Given the description of an element on the screen output the (x, y) to click on. 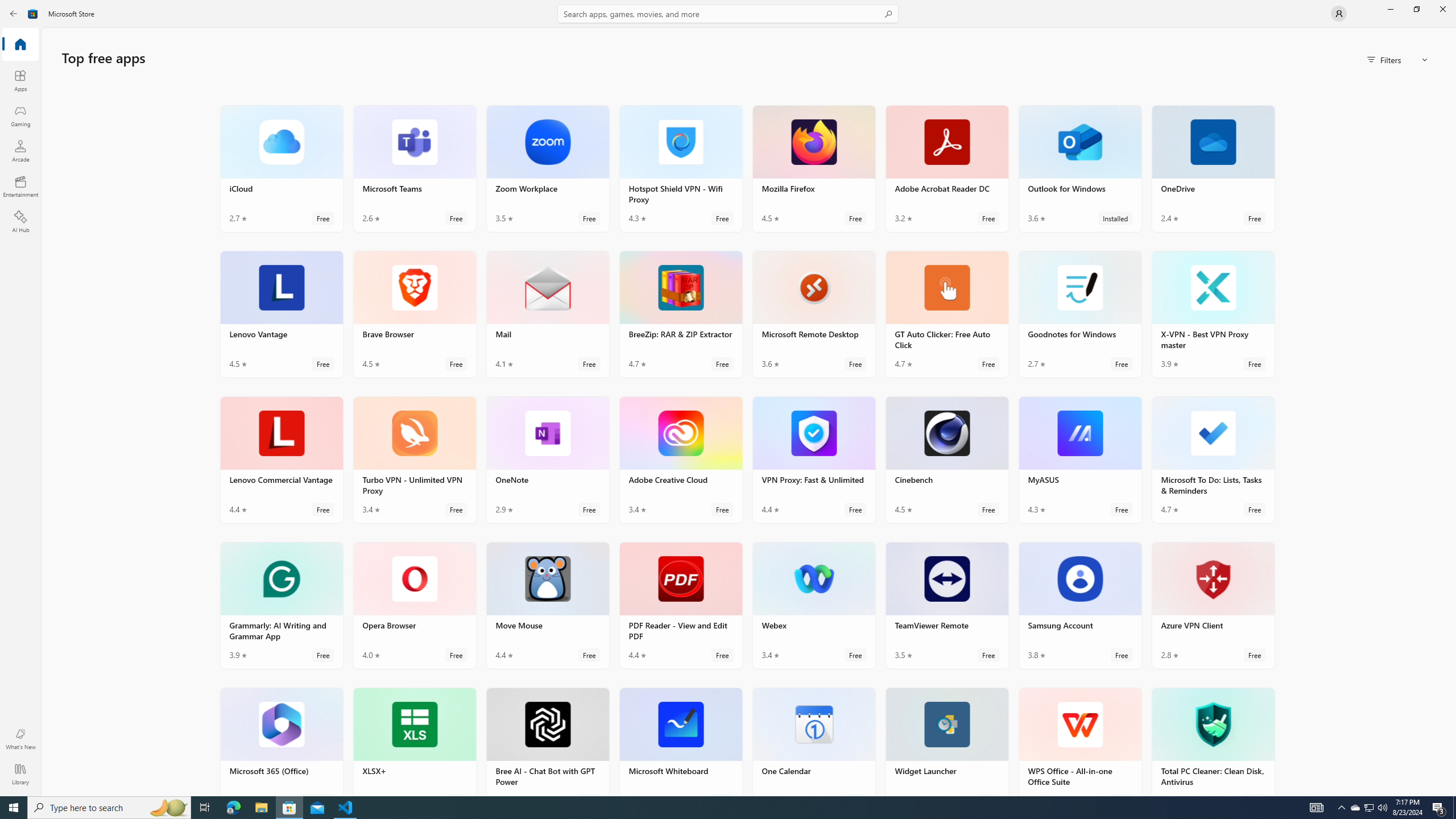
Library (20, 773)
Entertainment (20, 185)
Class: Image (32, 13)
AI Hub (20, 221)
